Given the description of an element on the screen output the (x, y) to click on. 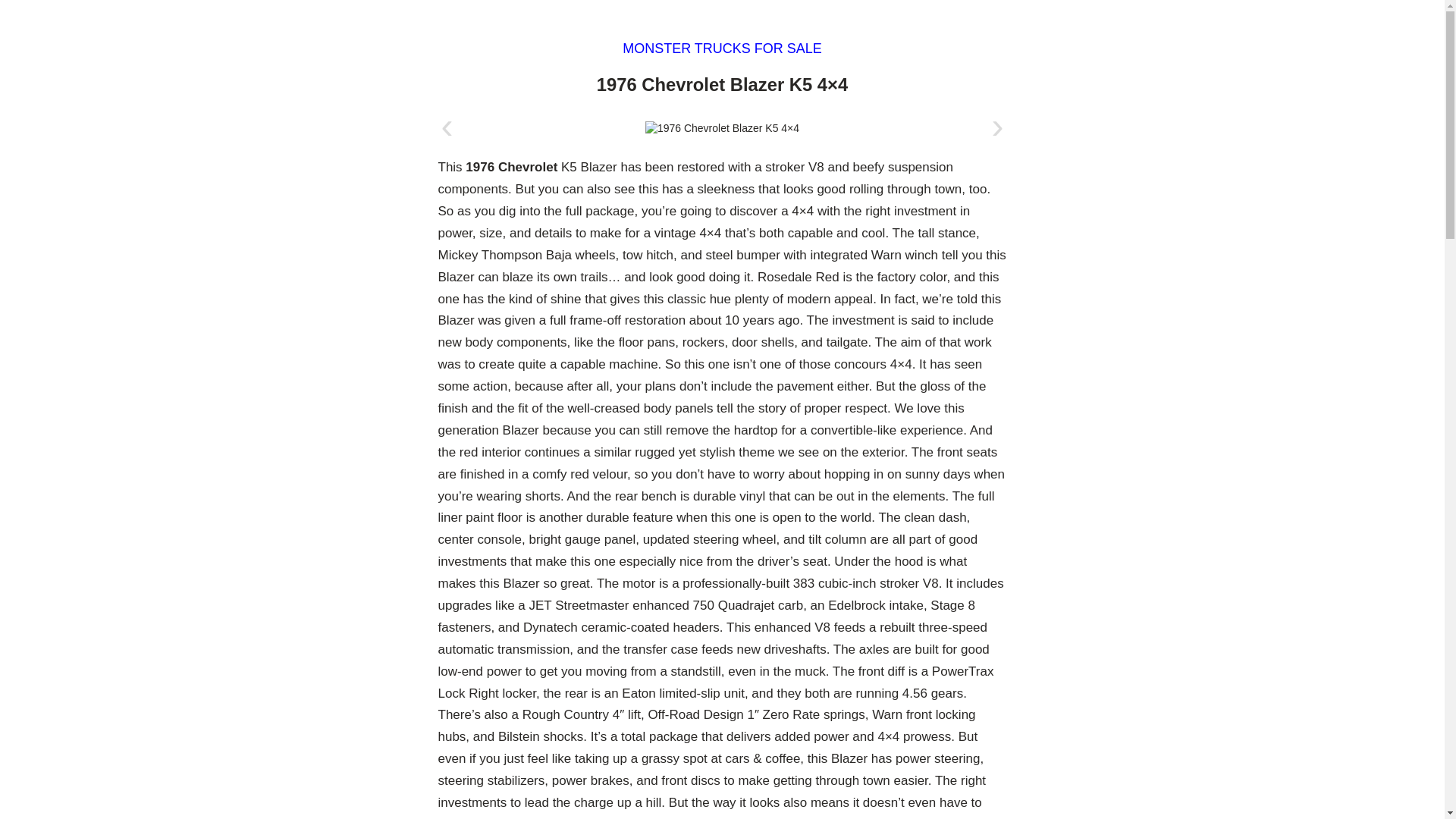
MONSTER TRUCKS FOR SALE (722, 48)
